Given the description of an element on the screen output the (x, y) to click on. 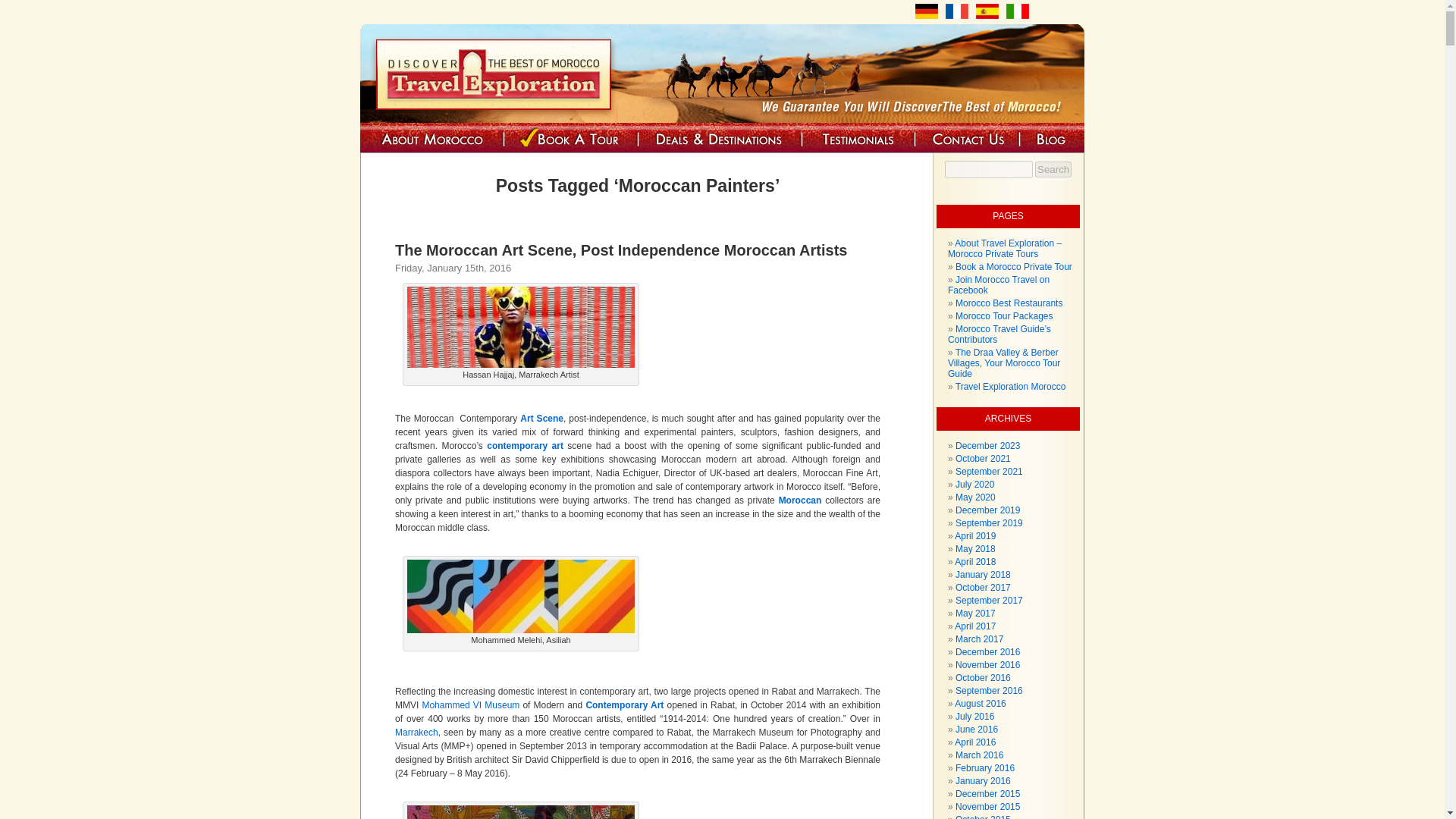
Marrakech (416, 732)
Art Scene (541, 418)
Mohammed VI Museum (470, 705)
Contemporary Art (624, 705)
contemporary art (524, 445)
